Given the description of an element on the screen output the (x, y) to click on. 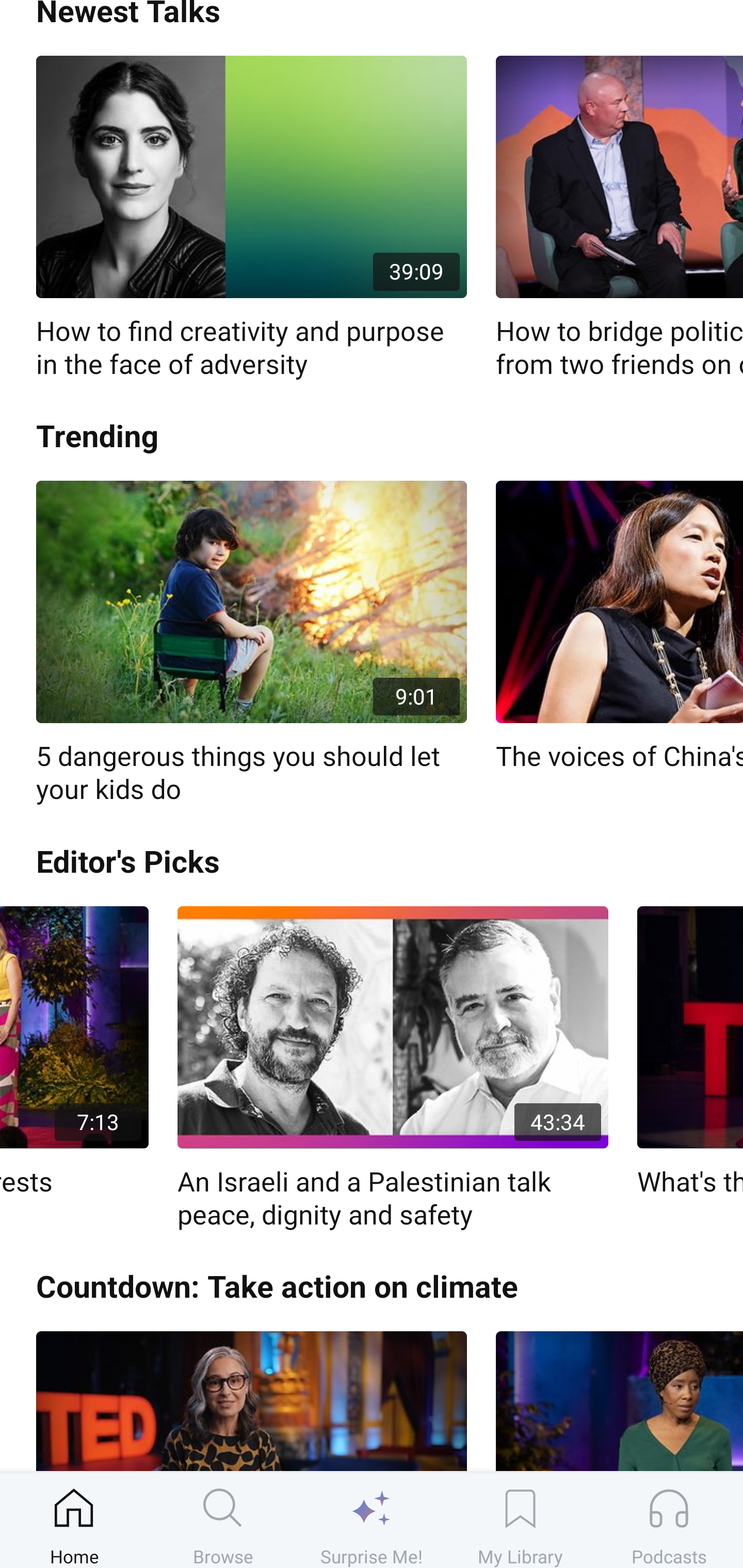
The voices of China's workers (619, 627)
Home (74, 1520)
Browse (222, 1520)
Surprise Me! (371, 1520)
My Library (519, 1520)
Podcasts (668, 1520)
